Given the description of an element on the screen output the (x, y) to click on. 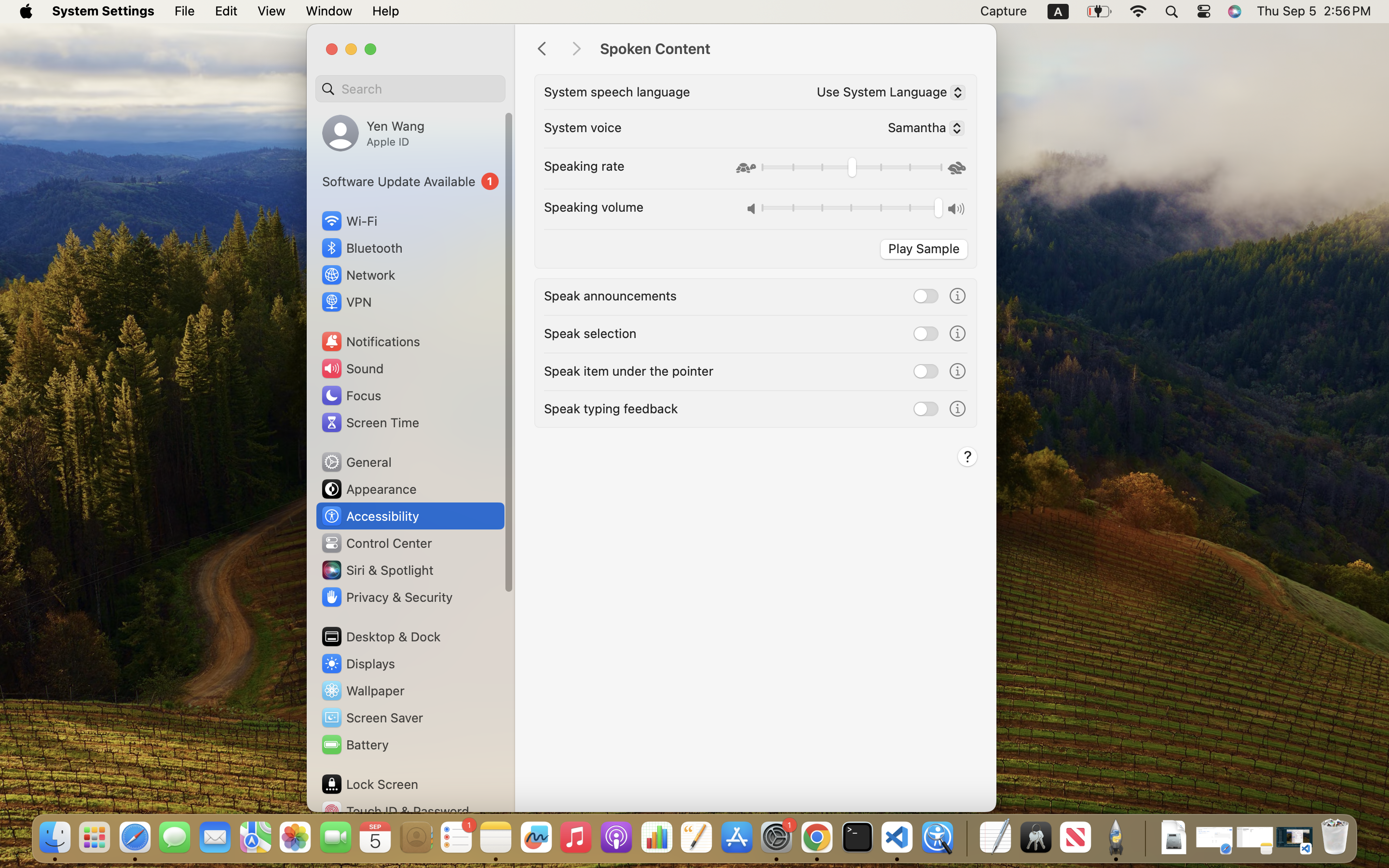
Speak selection Element type: AXStaticText (590, 332)
Sound Element type: AXStaticText (351, 367)
Wi‑Fi Element type: AXStaticText (348, 220)
Network Element type: AXStaticText (357, 274)
